Given the description of an element on the screen output the (x, y) to click on. 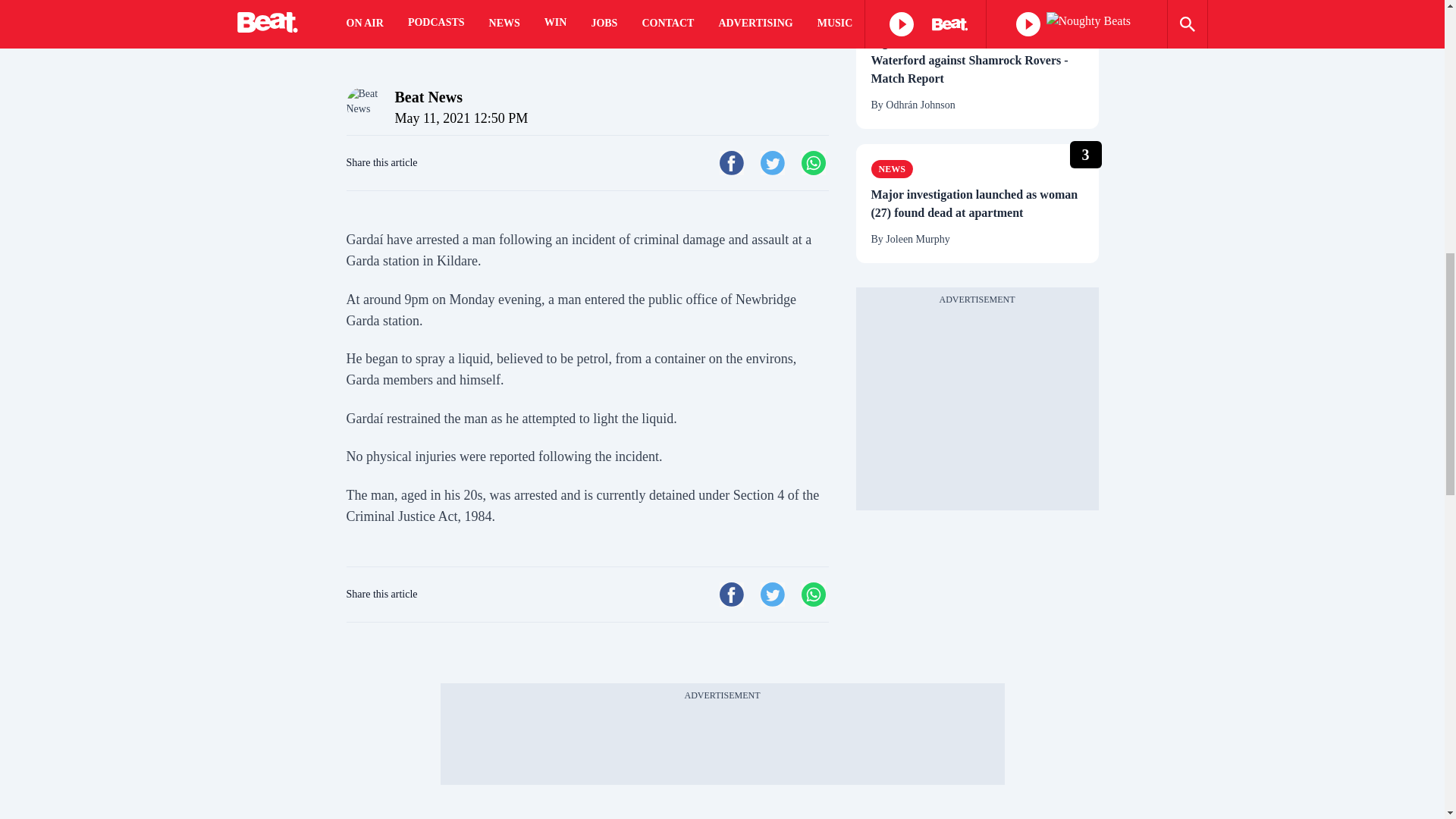
News (891, 168)
Sport (892, 16)
